Given the description of an element on the screen output the (x, y) to click on. 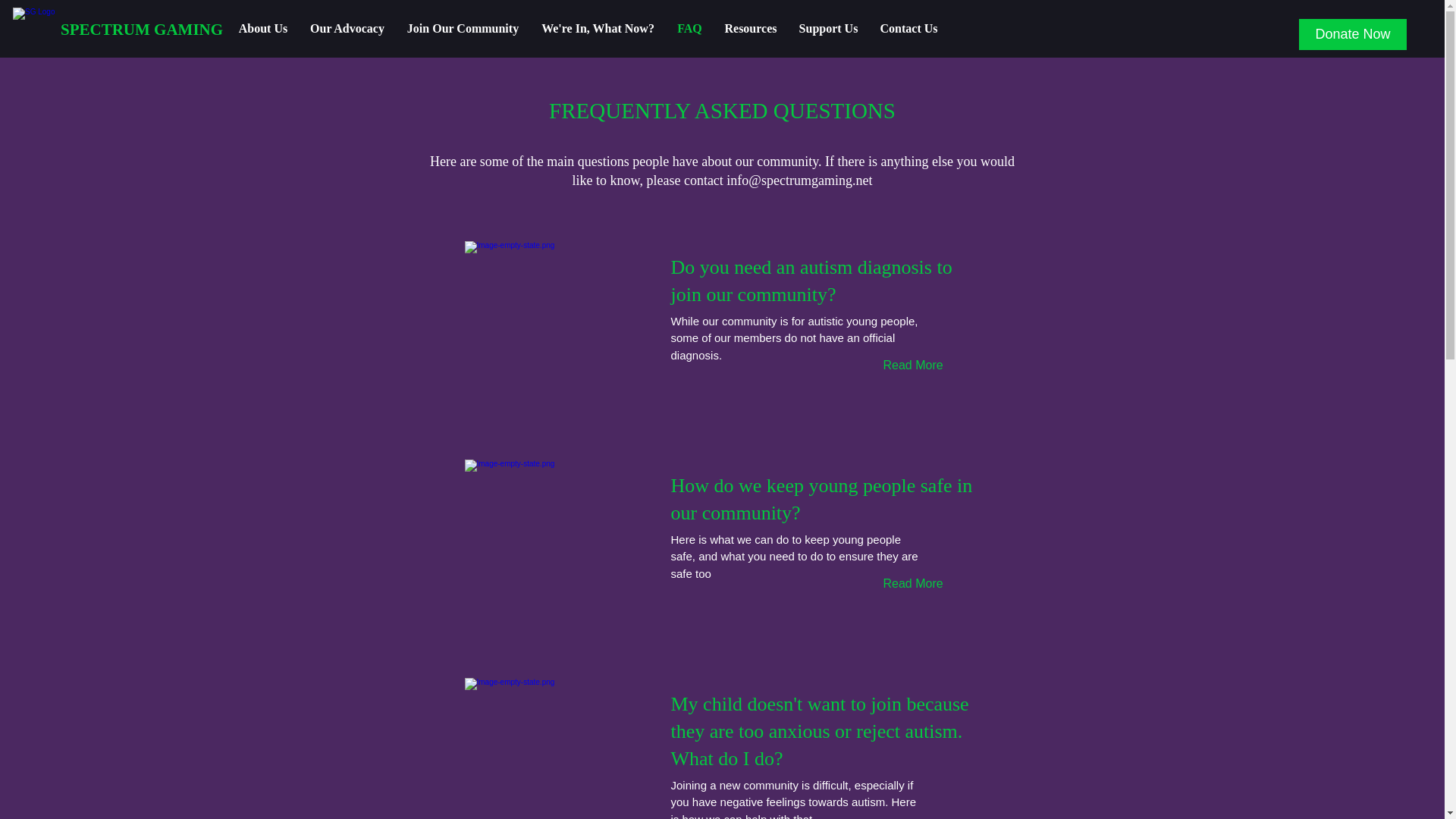
Playing Video Games.jpeg (561, 748)
Read More (914, 818)
About Us (262, 28)
FAQ (689, 28)
SPECTRUM GAMING (157, 29)
Join Our Community (462, 28)
Our Advocacy (347, 28)
Support Us (828, 28)
We're In, What Now? (597, 28)
Gamer Streaming Live.jpg (561, 536)
